Given the description of an element on the screen output the (x, y) to click on. 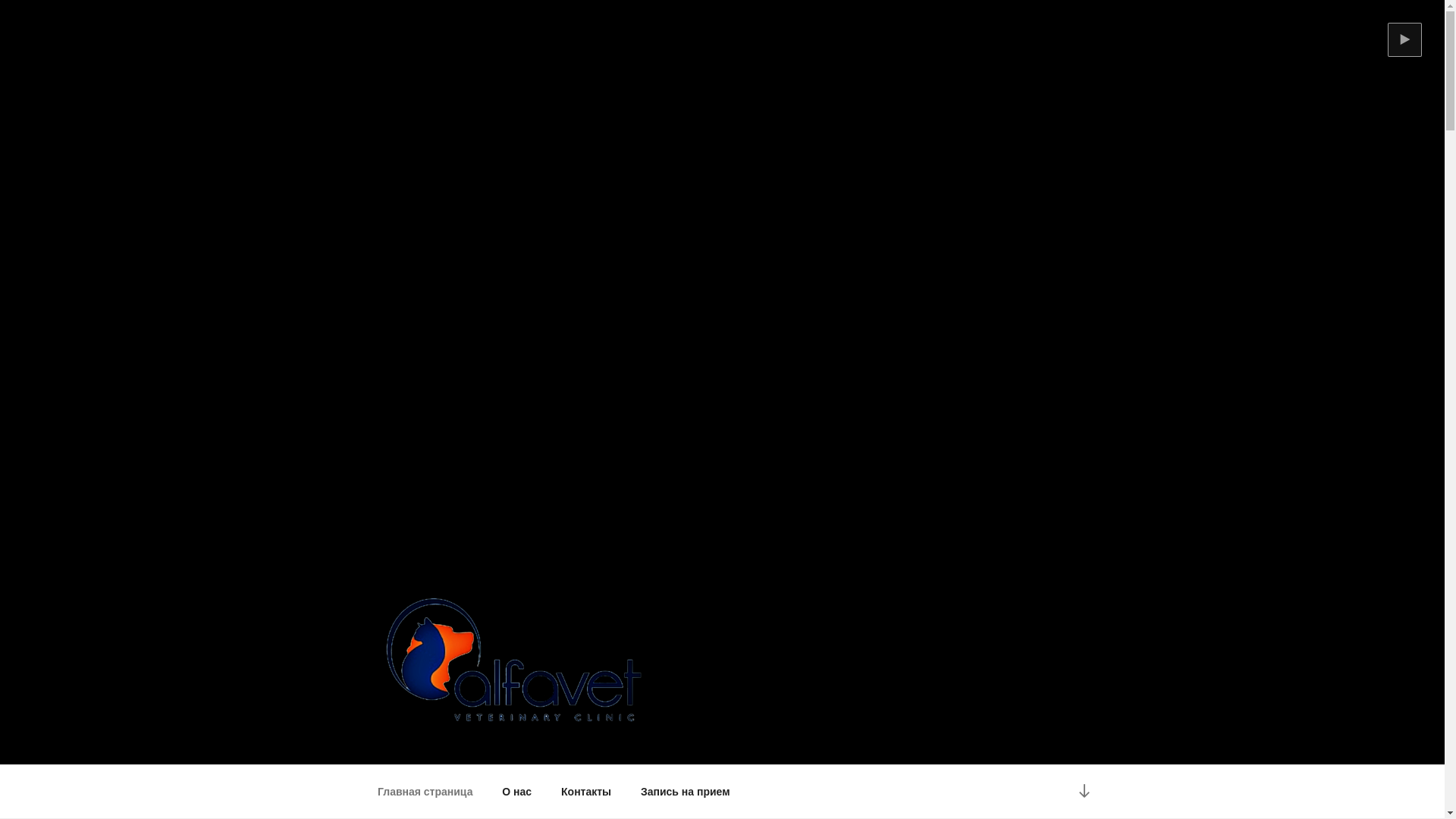
ALFAVET Element type: text (440, 743)
